Given the description of an element on the screen output the (x, y) to click on. 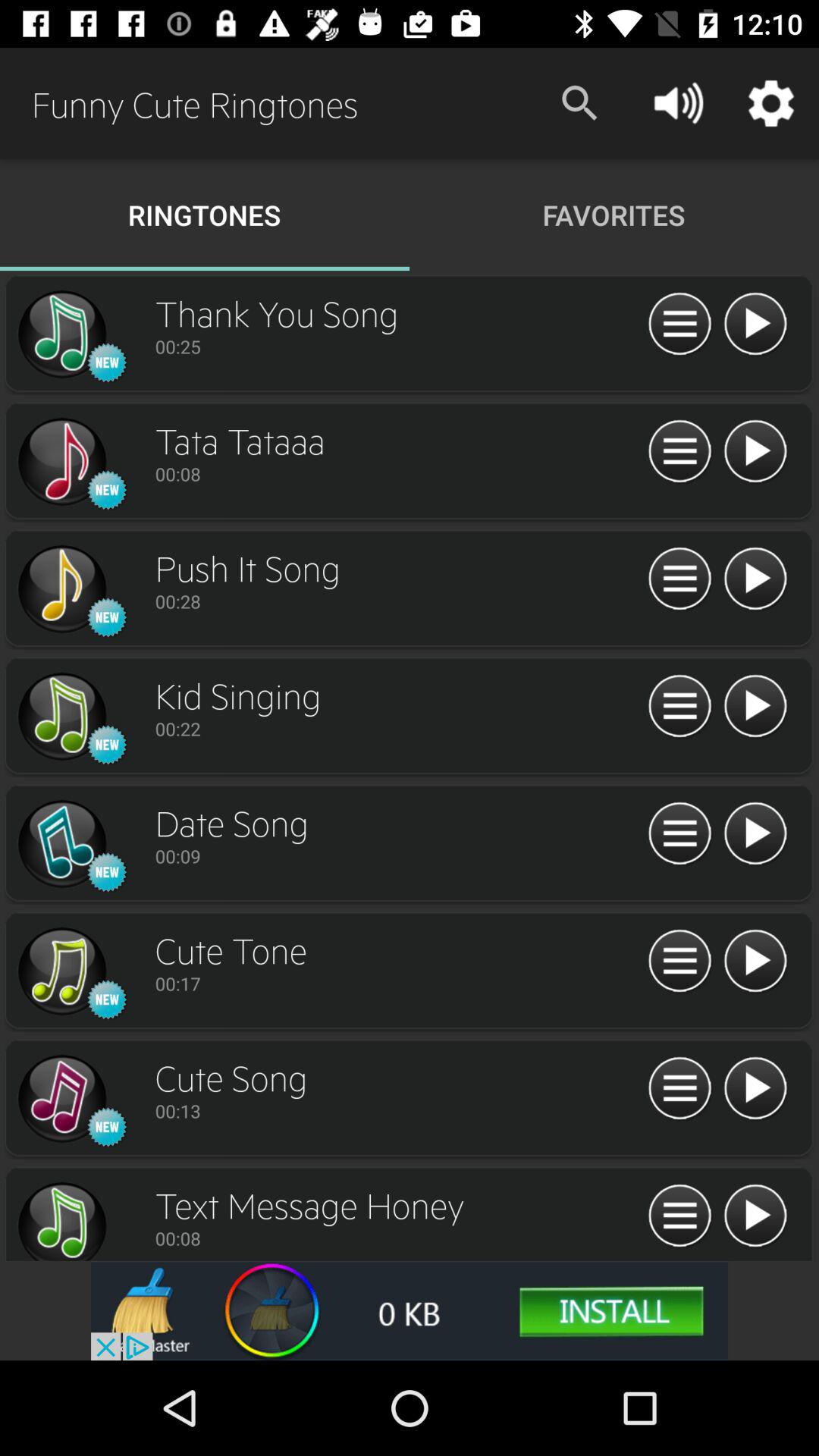
play sound (755, 834)
